Given the description of an element on the screen output the (x, y) to click on. 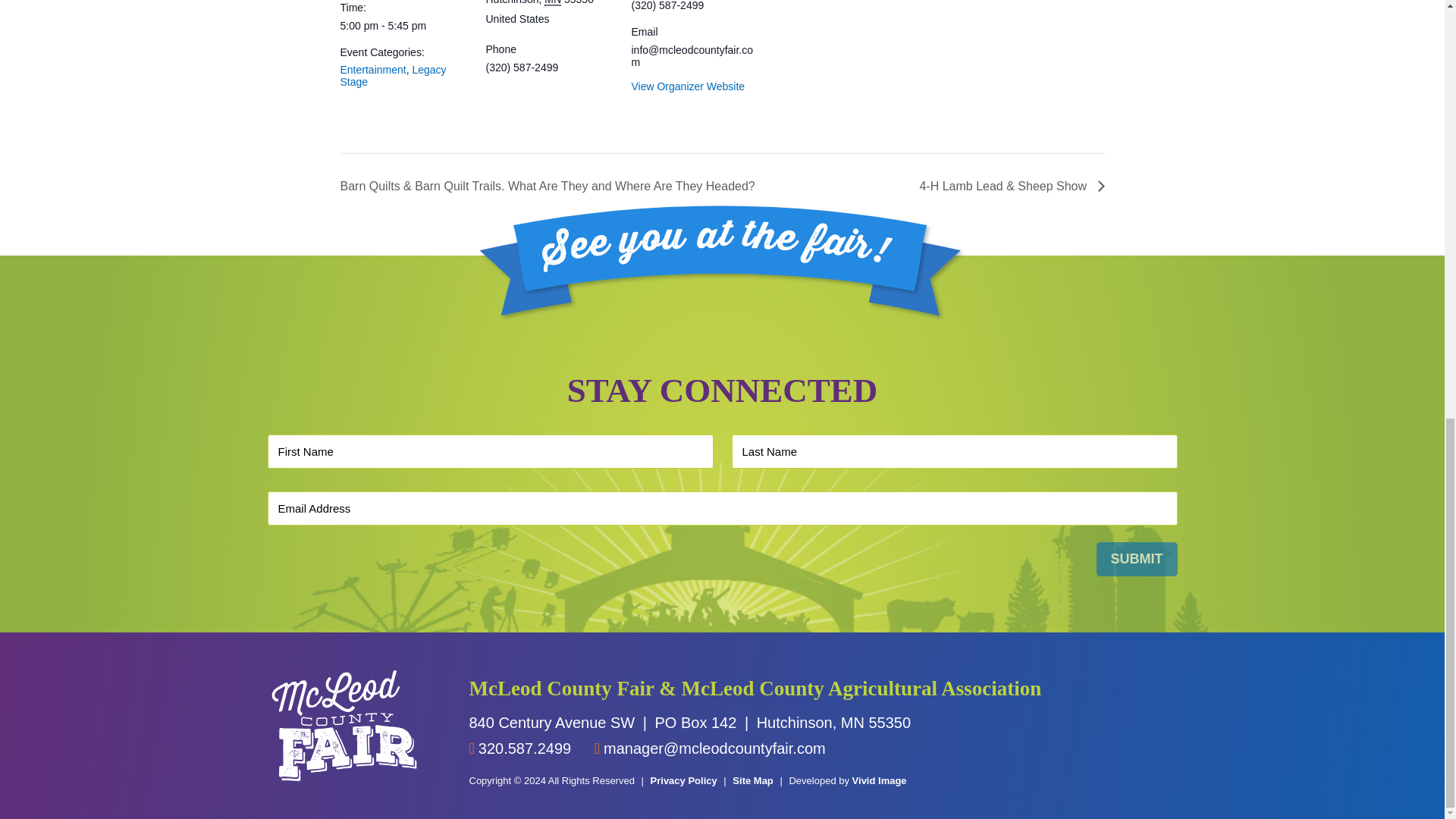
Minnesota (552, 2)
Legacy Stage (392, 75)
2023-08-18 (403, 25)
Entertainment (372, 69)
View Organizer Website (687, 86)
